Given the description of an element on the screen output the (x, y) to click on. 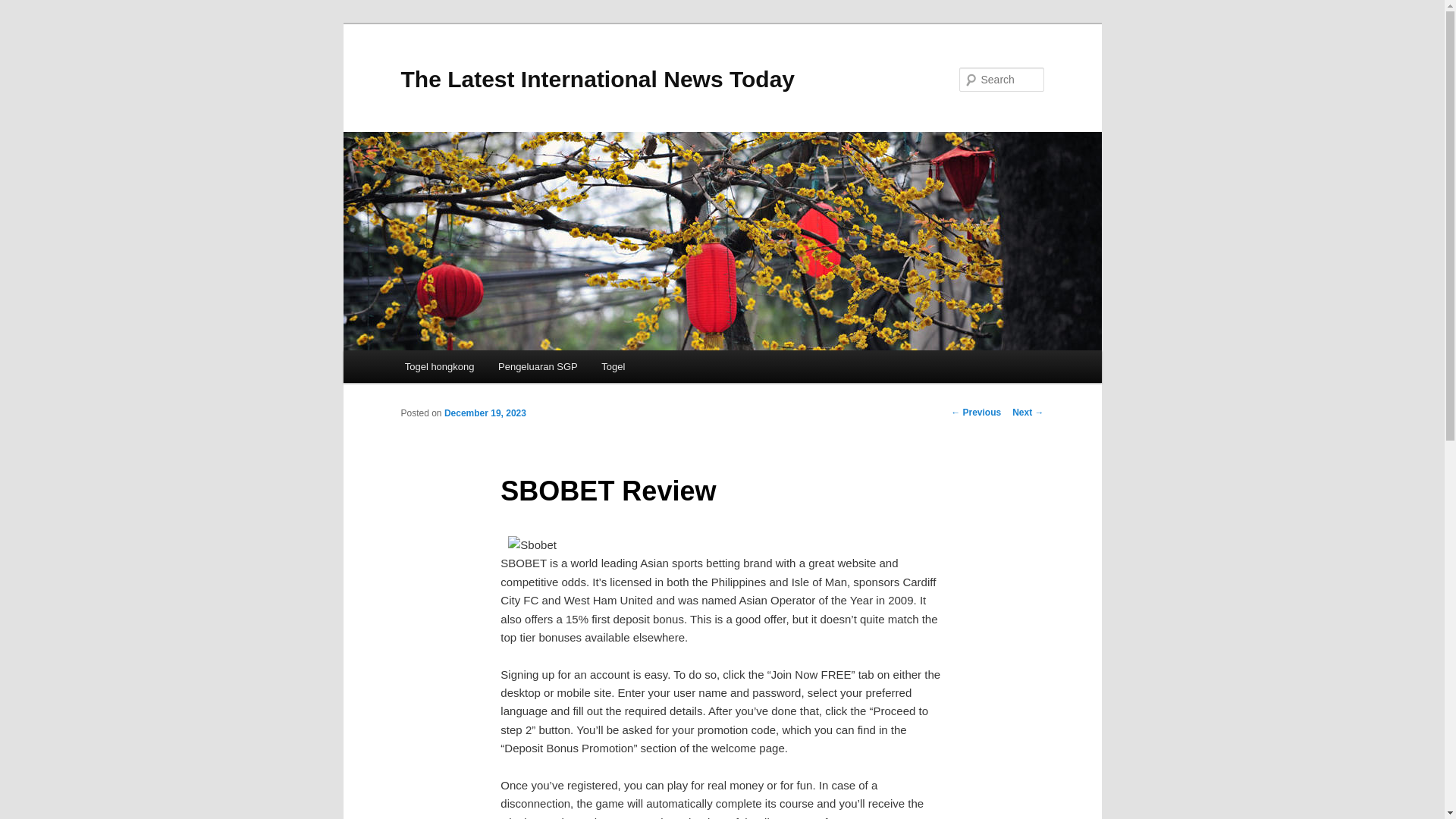
December 19, 2023 (484, 412)
Search (24, 8)
4:49 am (484, 412)
Togel (613, 366)
Togel hongkong (439, 366)
The Latest International News Today (597, 78)
Pengeluaran SGP (537, 366)
